Given the description of an element on the screen output the (x, y) to click on. 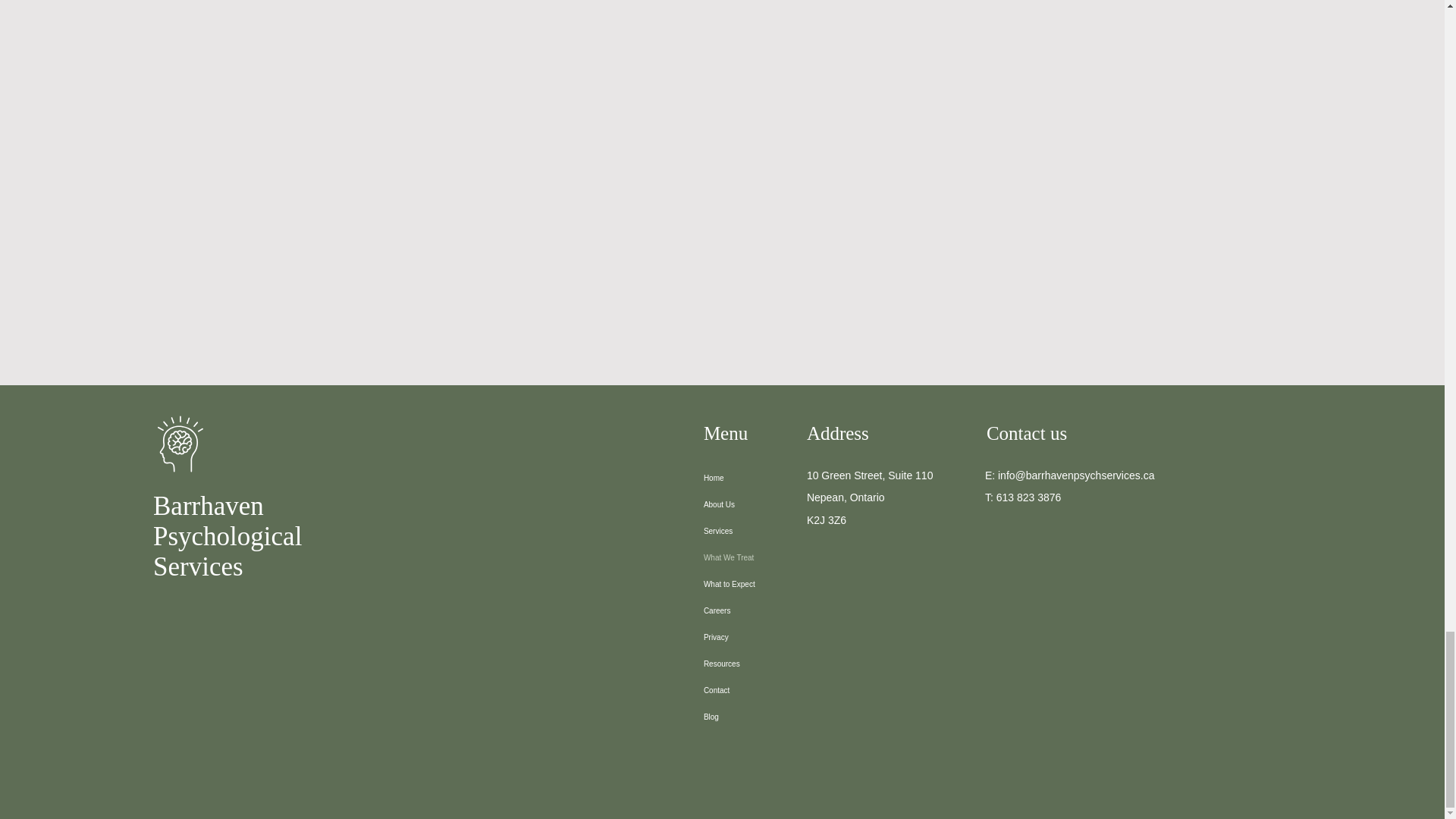
Home (765, 478)
Privacy (765, 637)
What to Expect (765, 583)
Services (765, 530)
About Us (765, 504)
Blog (765, 716)
What We Treat (765, 557)
Contact (765, 690)
Resources (869, 497)
Careers (765, 663)
